Given the description of an element on the screen output the (x, y) to click on. 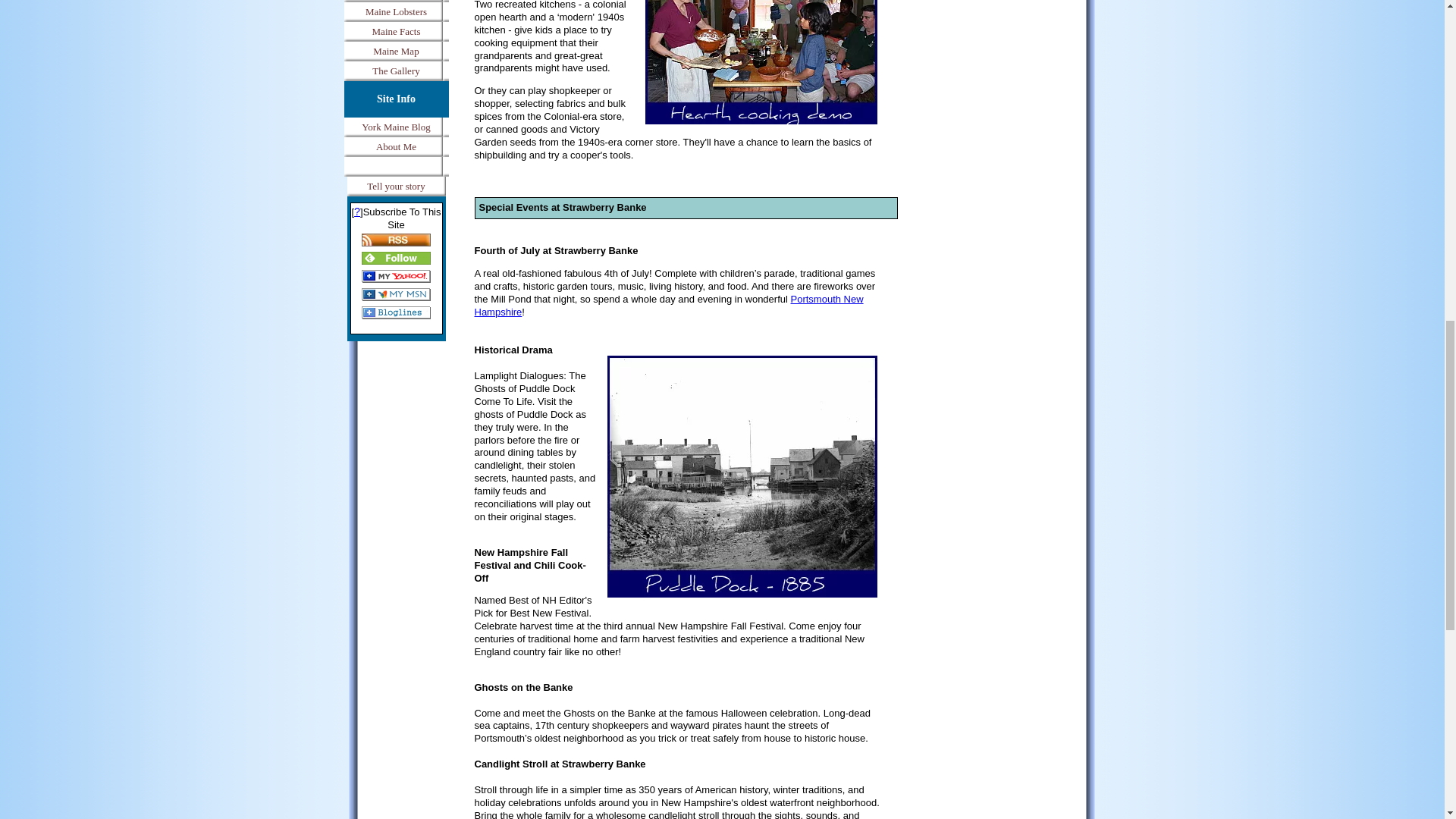
Maine Facts (395, 31)
About Me (395, 147)
Maine Lobsters (395, 12)
Portsmouth New Hampshire (668, 305)
Maine Map (395, 51)
The Gallery (395, 71)
Tell your story (396, 186)
York Maine Blog (395, 127)
Maine State Parks (395, 1)
